Given the description of an element on the screen output the (x, y) to click on. 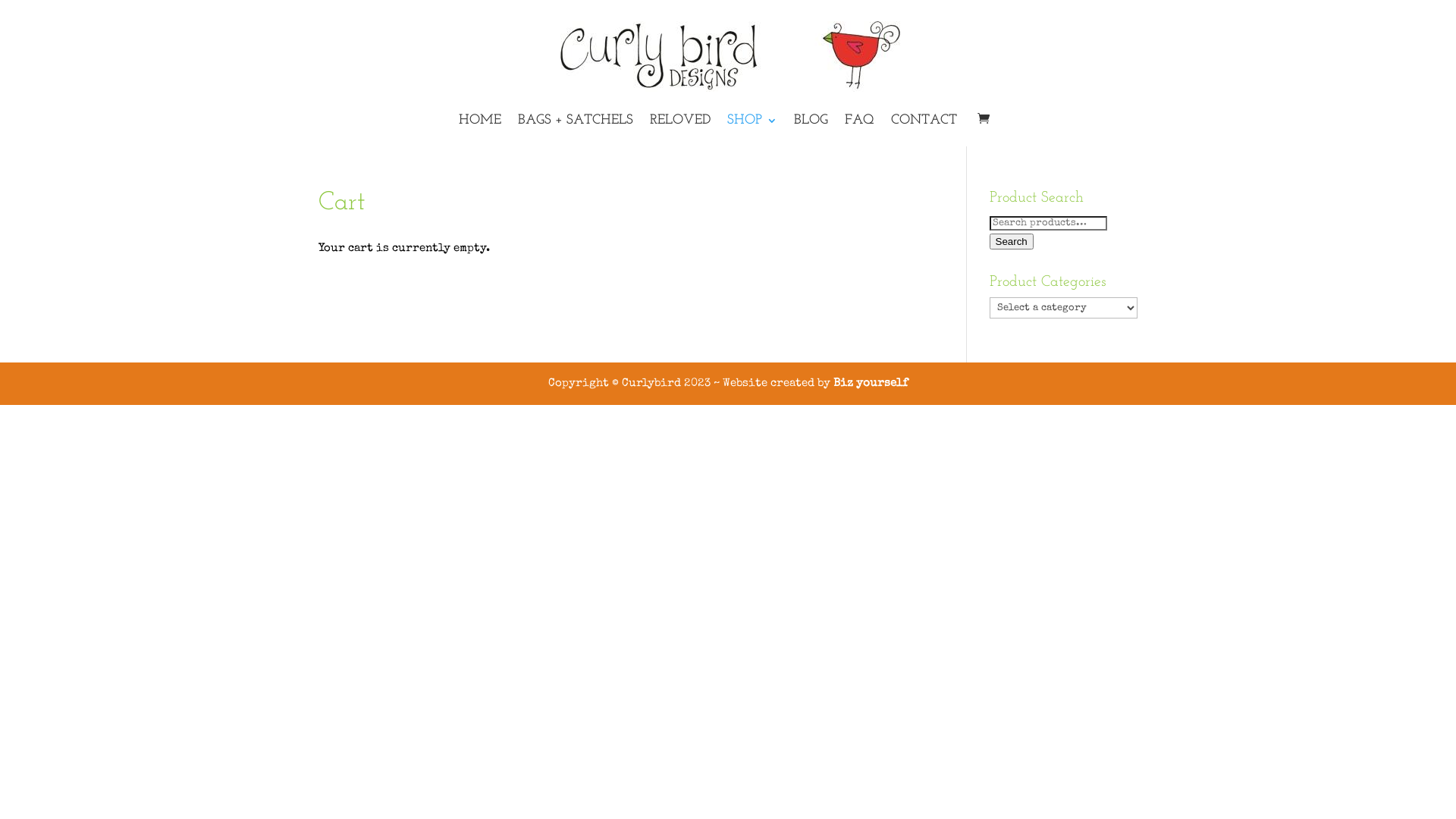
BAGS + SATCHELS Element type: text (575, 130)
CONTACT Element type: text (924, 130)
SHOP Element type: text (752, 130)
FAQ Element type: text (859, 130)
Biz yourself Element type: text (870, 383)
Search Element type: text (1011, 241)
HOME Element type: text (479, 130)
BLOG Element type: text (810, 130)
RELOVED Element type: text (679, 130)
